Given the description of an element on the screen output the (x, y) to click on. 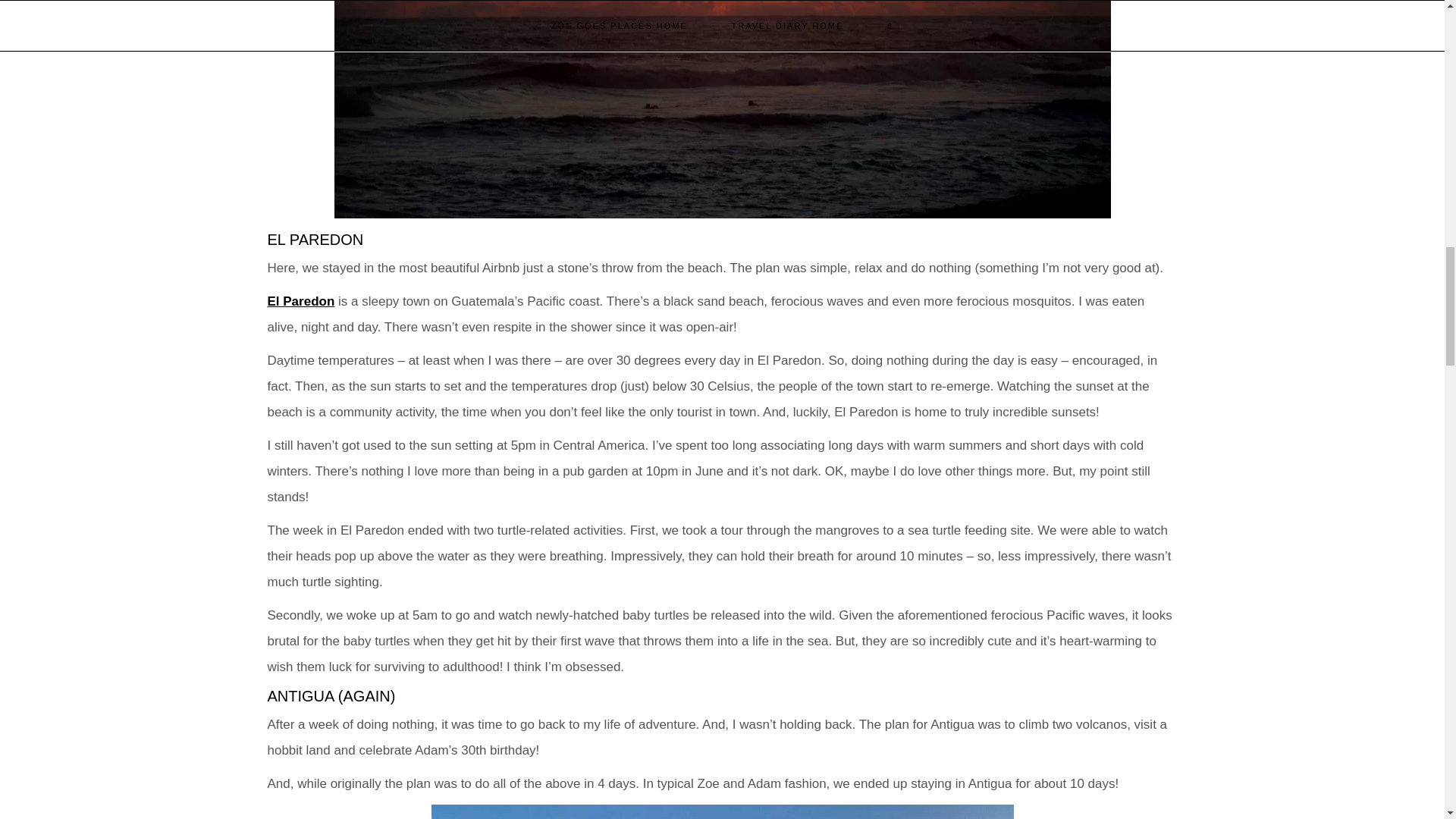
El Paredon (300, 301)
